Given the description of an element on the screen output the (x, y) to click on. 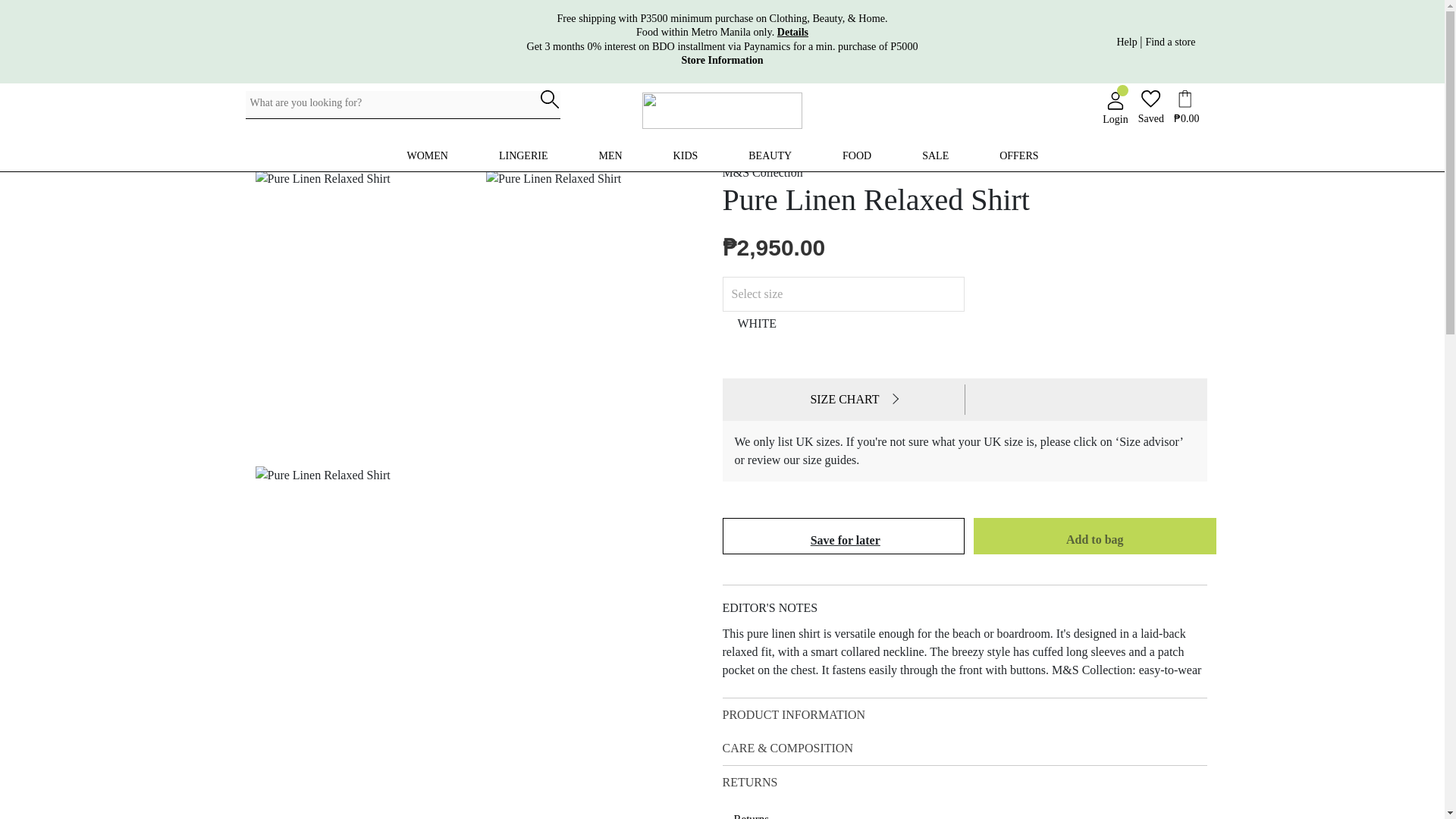
Add to bag (1094, 539)
WOMEN (427, 155)
Store Information (722, 153)
Help (721, 60)
Details (1128, 41)
Find a store (792, 31)
